Given the description of an element on the screen output the (x, y) to click on. 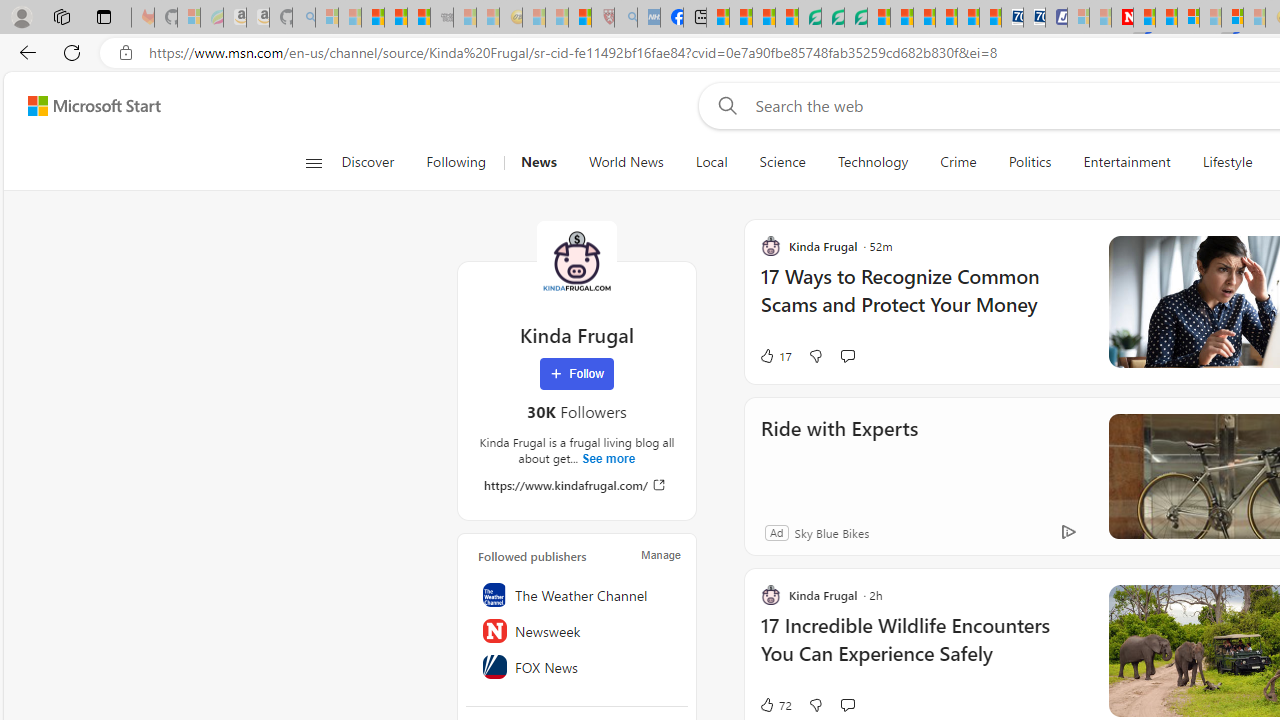
17 Like (775, 355)
Technology (872, 162)
Web search (724, 105)
NCL Adult Asthma Inhaler Choice Guideline - Sleeping (648, 17)
Crime (957, 162)
